Given the description of an element on the screen output the (x, y) to click on. 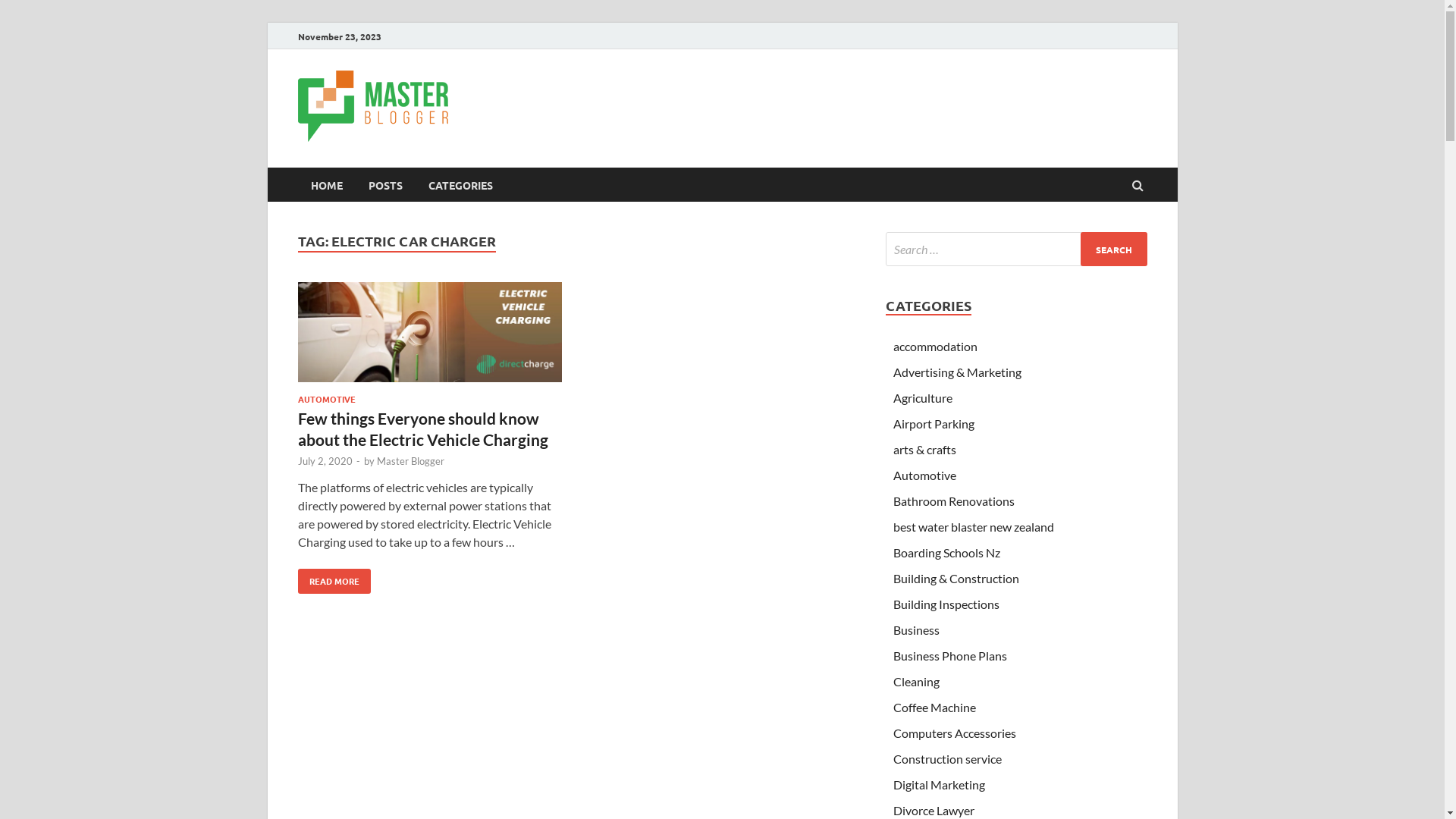
Agriculture Element type: text (922, 397)
Master Blogger Element type: text (561, 101)
Building & Construction Element type: text (956, 578)
POSTS Element type: text (384, 184)
Computers Accessories Element type: text (954, 732)
accommodation Element type: text (935, 345)
Business Phone Plans Element type: text (950, 655)
Boarding Schools Nz Element type: text (946, 552)
Cleaning Element type: text (916, 681)
Building Inspections Element type: text (946, 603)
READ MORE Element type: text (333, 580)
HOME Element type: text (325, 184)
AUTOMOTIVE Element type: text (325, 398)
Coffee Machine Element type: text (934, 706)
Construction service Element type: text (947, 758)
Master Blogger Element type: text (409, 461)
Search Element type: text (1112, 249)
best water blaster new zealand Element type: text (973, 526)
Airport Parking Element type: text (933, 423)
Bathroom Renovations Element type: text (953, 500)
July 2, 2020 Element type: text (324, 461)
Digital Marketing Element type: text (939, 784)
Business Element type: text (916, 629)
arts & crafts Element type: text (924, 449)
Automotive Element type: text (924, 474)
Advertising & Marketing Element type: text (957, 371)
Divorce Lawyer Element type: text (933, 810)
CATEGORIES Element type: text (460, 184)
